Given the description of an element on the screen output the (x, y) to click on. 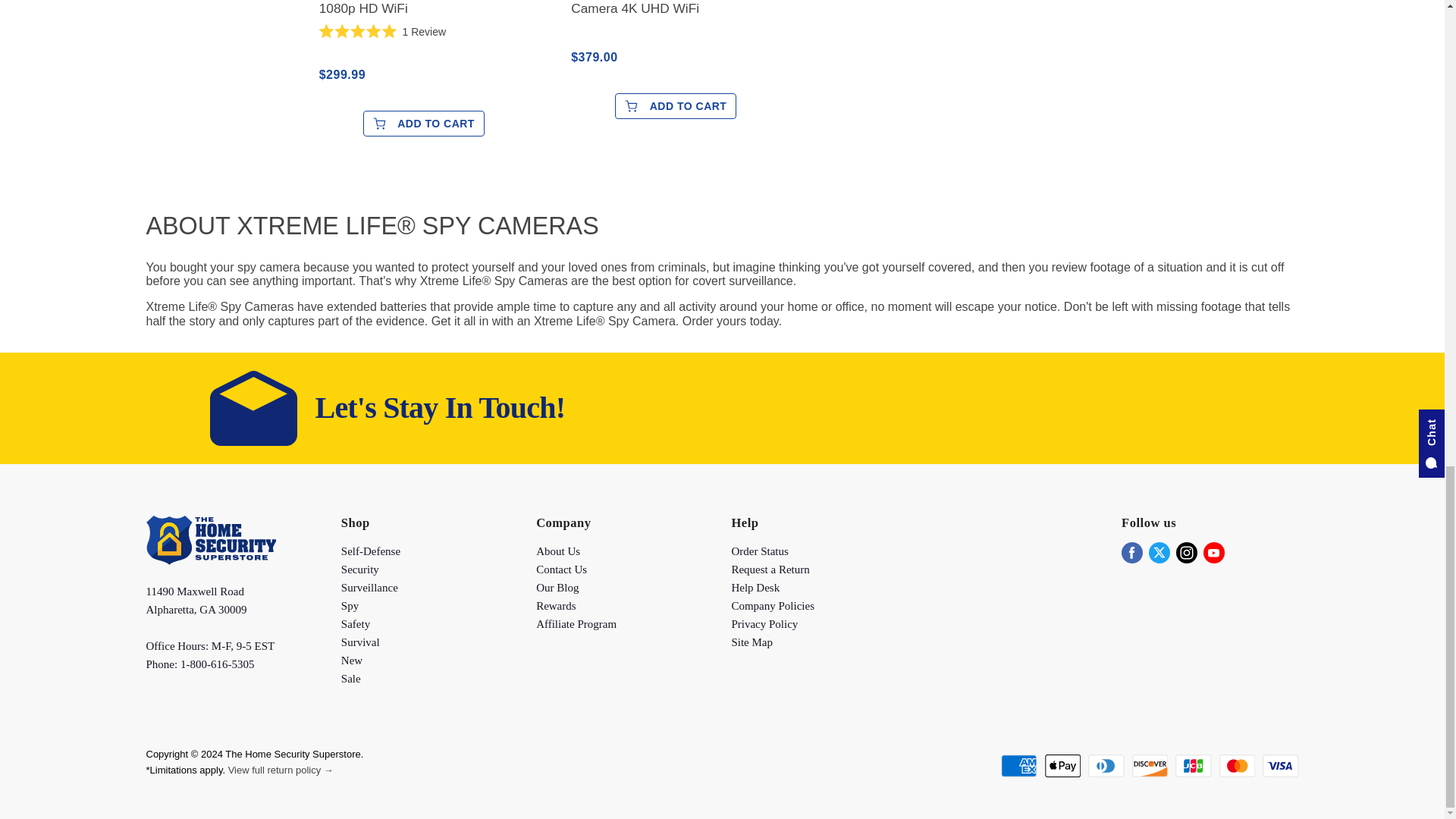
Youtube (1213, 552)
Twitter (1159, 552)
Facebook (1131, 552)
Instagram (1186, 552)
The Home Security Superstore (210, 561)
